Given the description of an element on the screen output the (x, y) to click on. 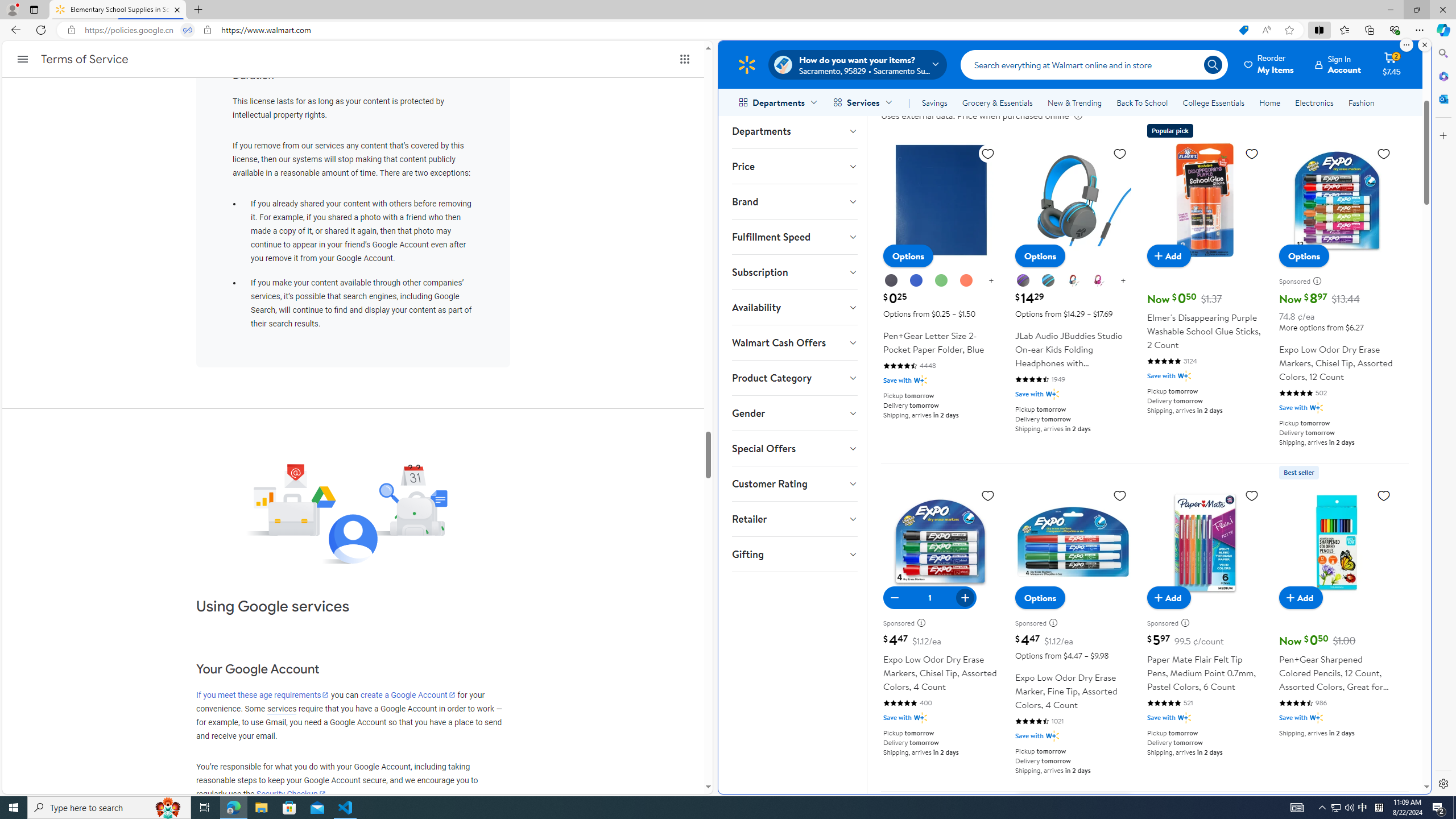
Departments (794, 130)
Home (1269, 102)
Sign In Account (1338, 64)
Collections (1369, 29)
Availability (794, 307)
App bar (728, 29)
Favorites (1344, 29)
Walmart Plus (1315, 717)
Brand (794, 201)
